Given the description of an element on the screen output the (x, y) to click on. 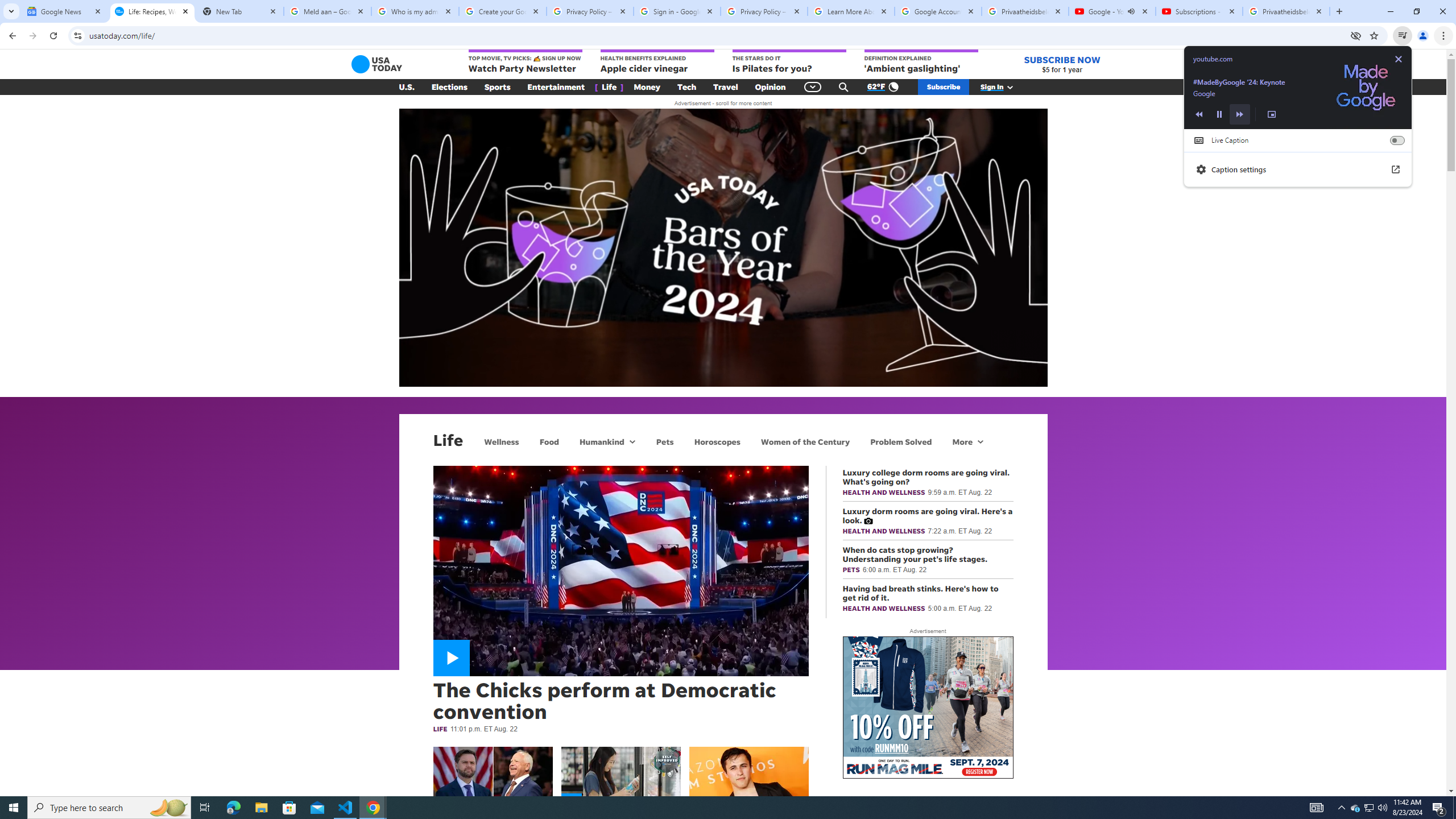
Google Account (938, 11)
Women of the Century (805, 441)
Elections (449, 87)
Problem Solved (901, 441)
AutomationID: 4105 (1316, 807)
Sign in - Google Accounts (676, 11)
Search highlights icon opens search home window (167, 807)
Life: Recipes, Wellness & Horoscopes - USA TODAY (151, 11)
Create your Google Account (502, 11)
Sign In (1002, 87)
